Given the description of an element on the screen output the (x, y) to click on. 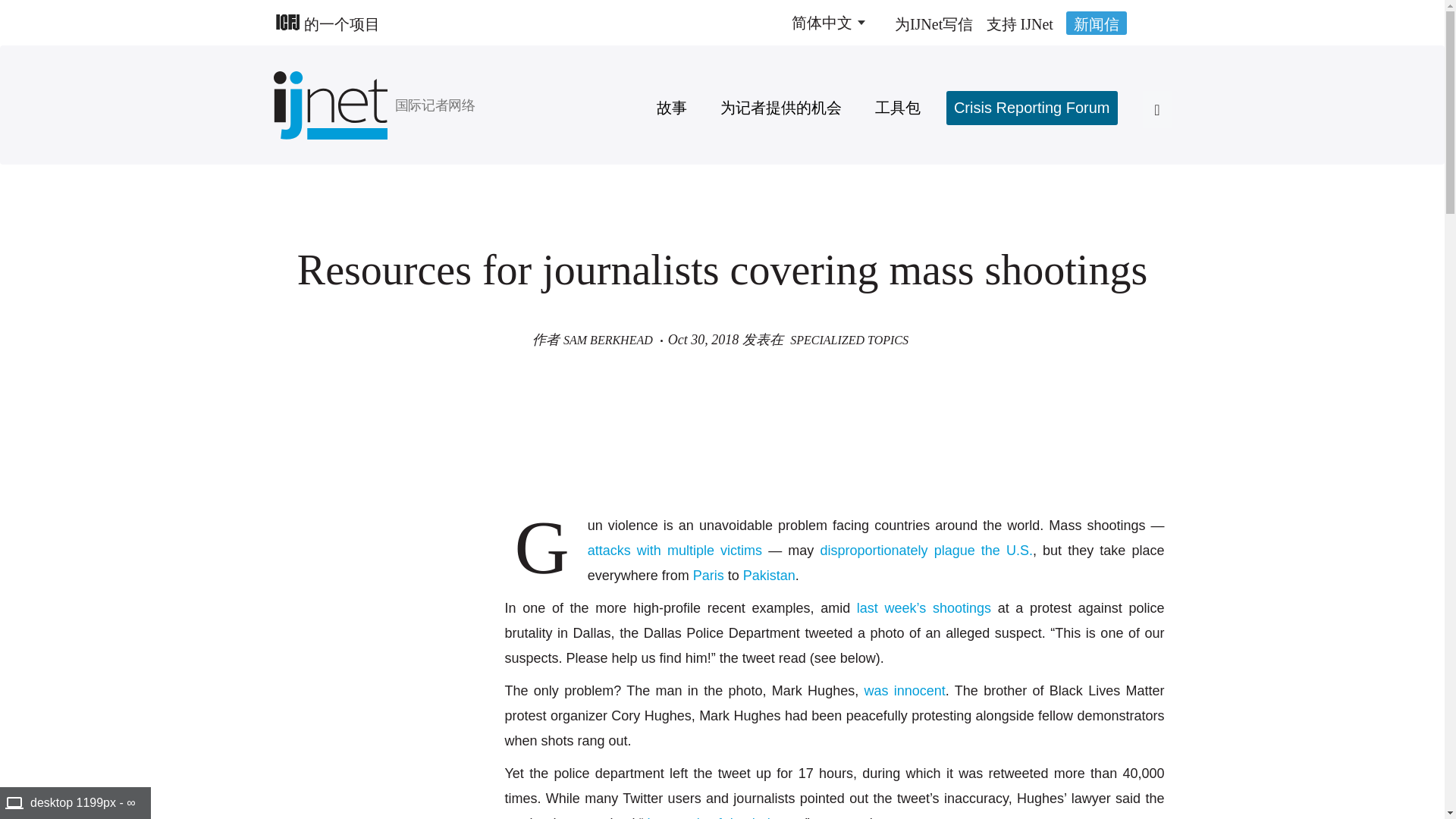
Subscribe to the newsletter modal (1095, 22)
Whatsapp (288, 623)
Home (448, 105)
Crisis Reporting Forum (1032, 107)
Linkedin (288, 564)
Home (333, 105)
Facebook (288, 534)
Toggle Dropdown (827, 22)
Twitter (288, 594)
